Given the description of an element on the screen output the (x, y) to click on. 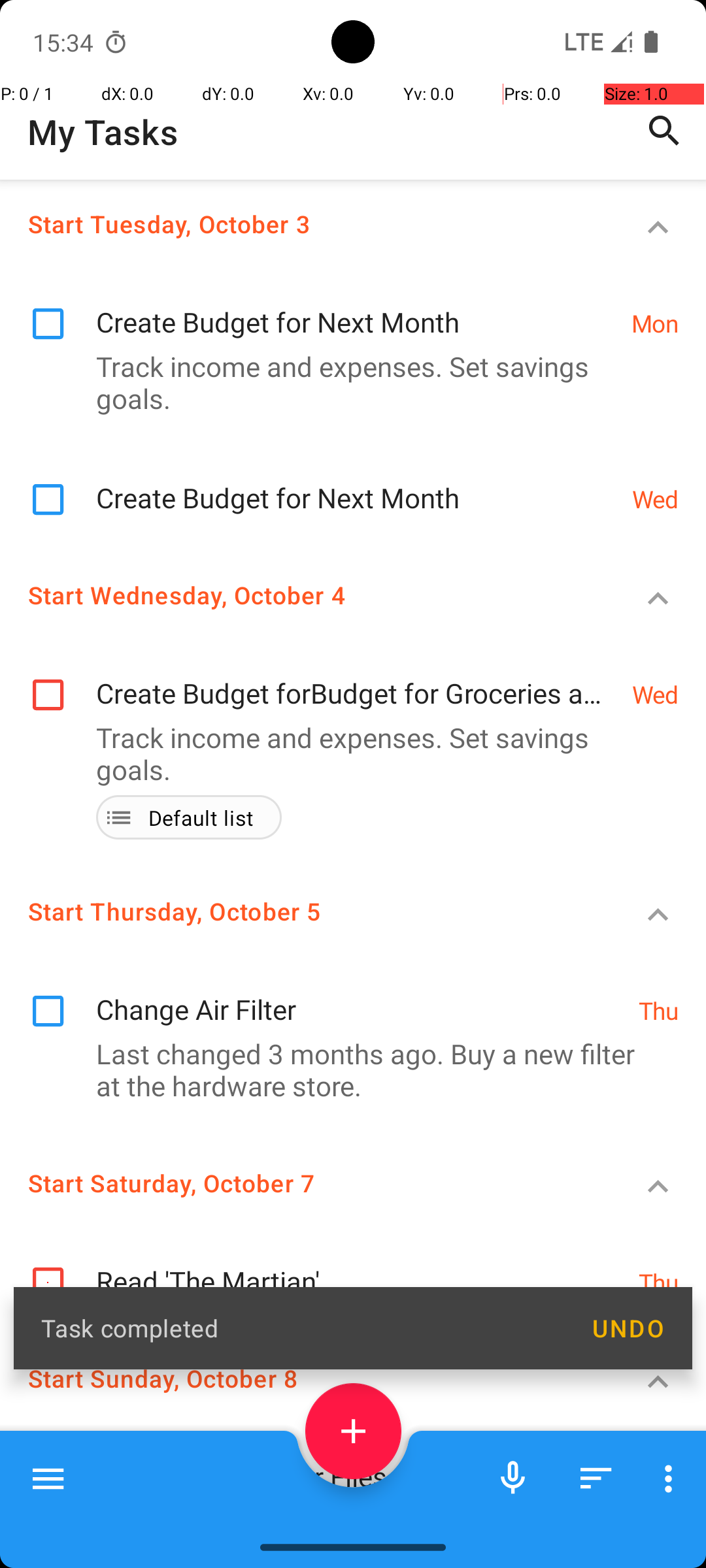
Task completed Element type: android.widget.TextView (302, 1327)
UNDO Element type: android.widget.Button (627, 1328)
Start Tuesday, October 3 Element type: android.widget.TextView (304, 223)
Start Wednesday, October 4 Element type: android.widget.TextView (304, 594)
Start Thursday, October 5 Element type: android.widget.TextView (304, 910)
Start Saturday, October 7 Element type: android.widget.TextView (304, 1182)
Start Sunday, October 8 Element type: android.widget.TextView (304, 1378)
Track income and expenses. Set savings goals. Element type: android.widget.TextView (346, 381)
Create Budget forBudget for Groceries and Utilities Next Month Element type: android.widget.TextView (357, 678)
Last changed 3 months ago. Buy a new filter at the hardware store. Element type: android.widget.TextView (346, 1069)
Use external hard drive or cloud storage. Schedule regular backups. Element type: android.widget.TextView (346, 1514)
